Given the description of an element on the screen output the (x, y) to click on. 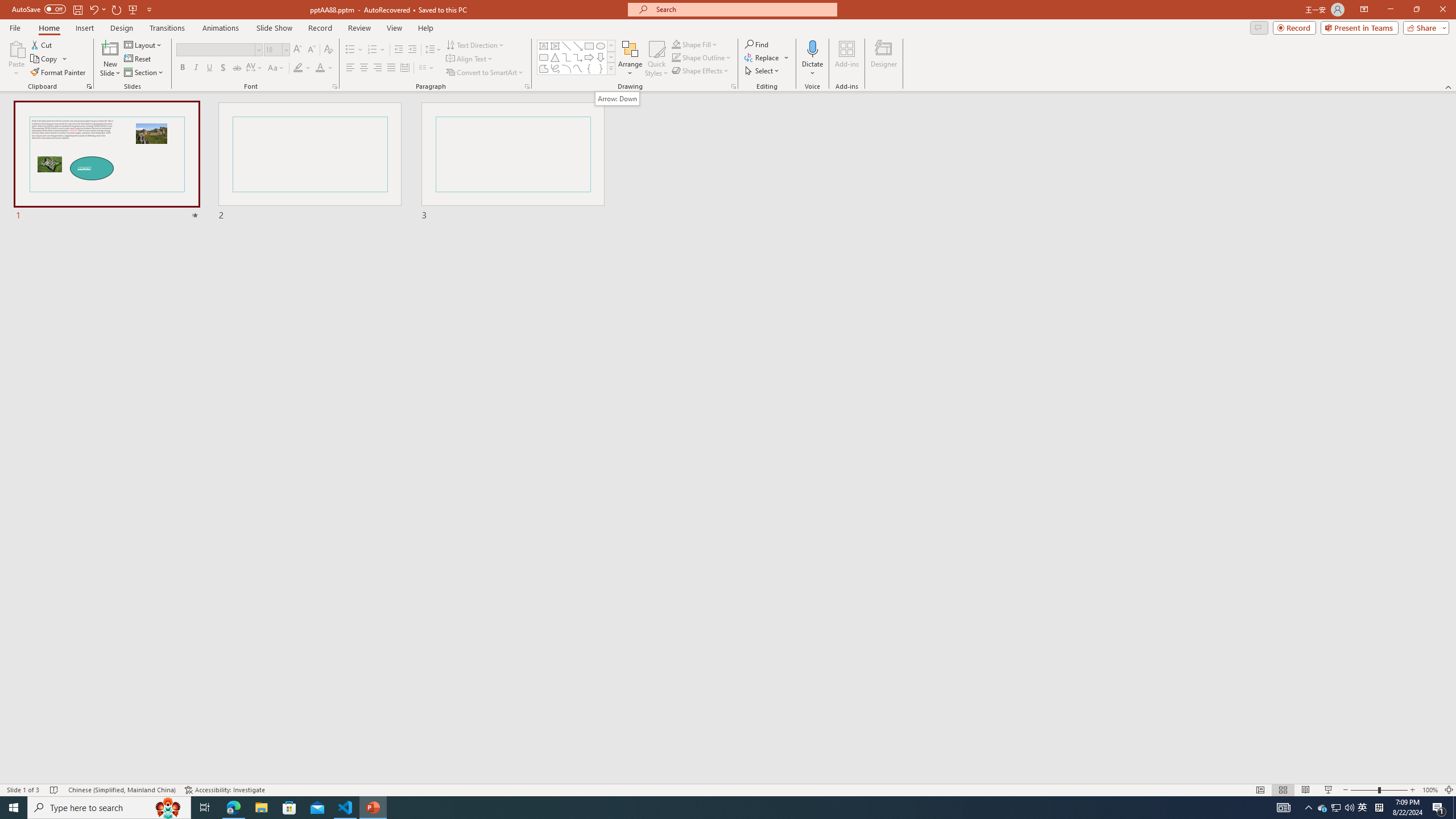
Vertical Text Box (554, 45)
Columns (426, 67)
Oval (600, 45)
Shape Effects (700, 69)
Font Color Red (320, 67)
Quick Styles (656, 58)
Open (285, 49)
Freeform: Scribble (554, 68)
Office Clipboard... (88, 85)
